Given the description of an element on the screen output the (x, y) to click on. 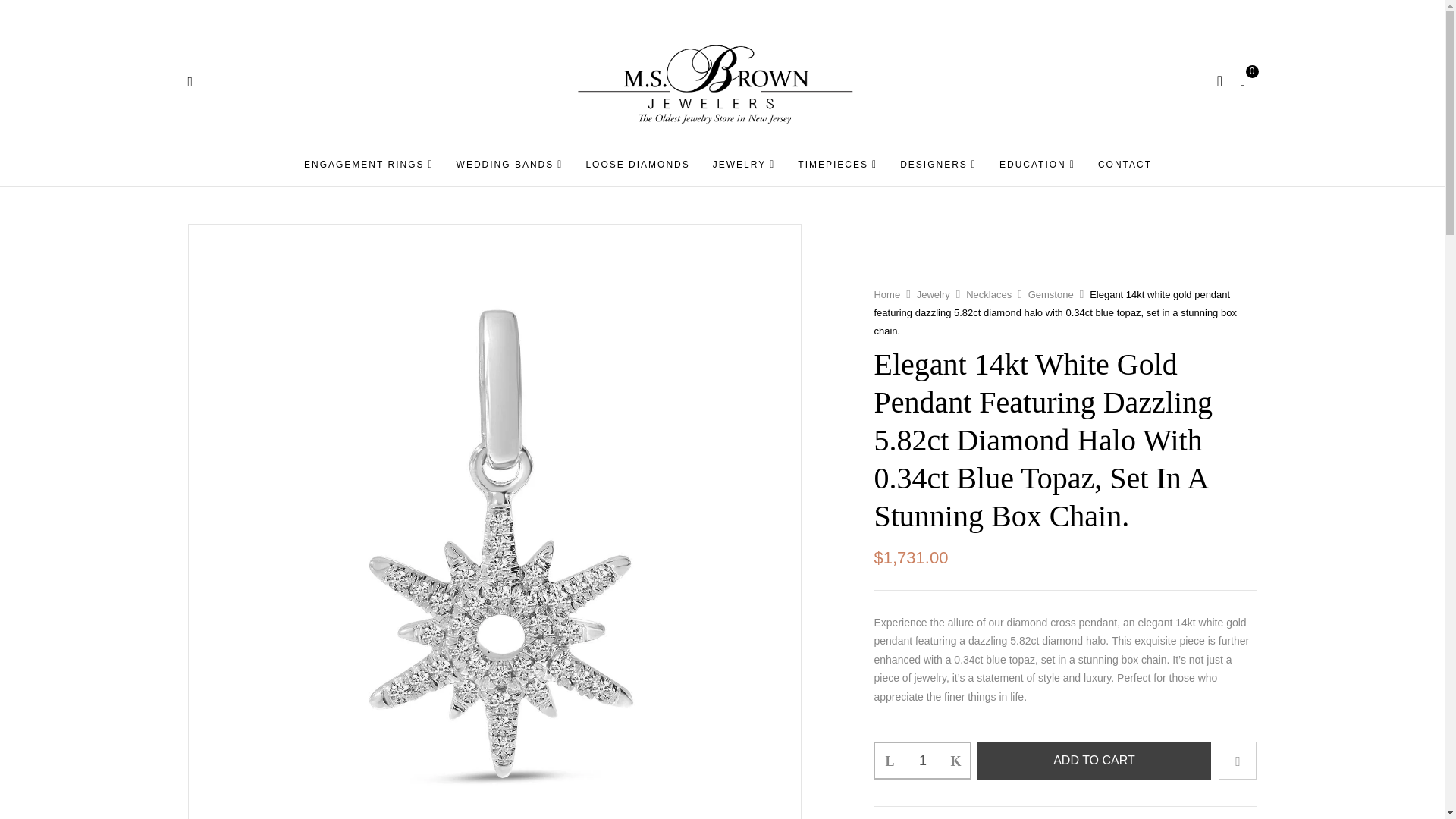
LOOSE DIAMONDS (636, 164)
ENGAGEMENT RINGS (368, 164)
WEDDING BANDS (510, 164)
JEWELRY (744, 164)
1 (922, 760)
